Given the description of an element on the screen output the (x, y) to click on. 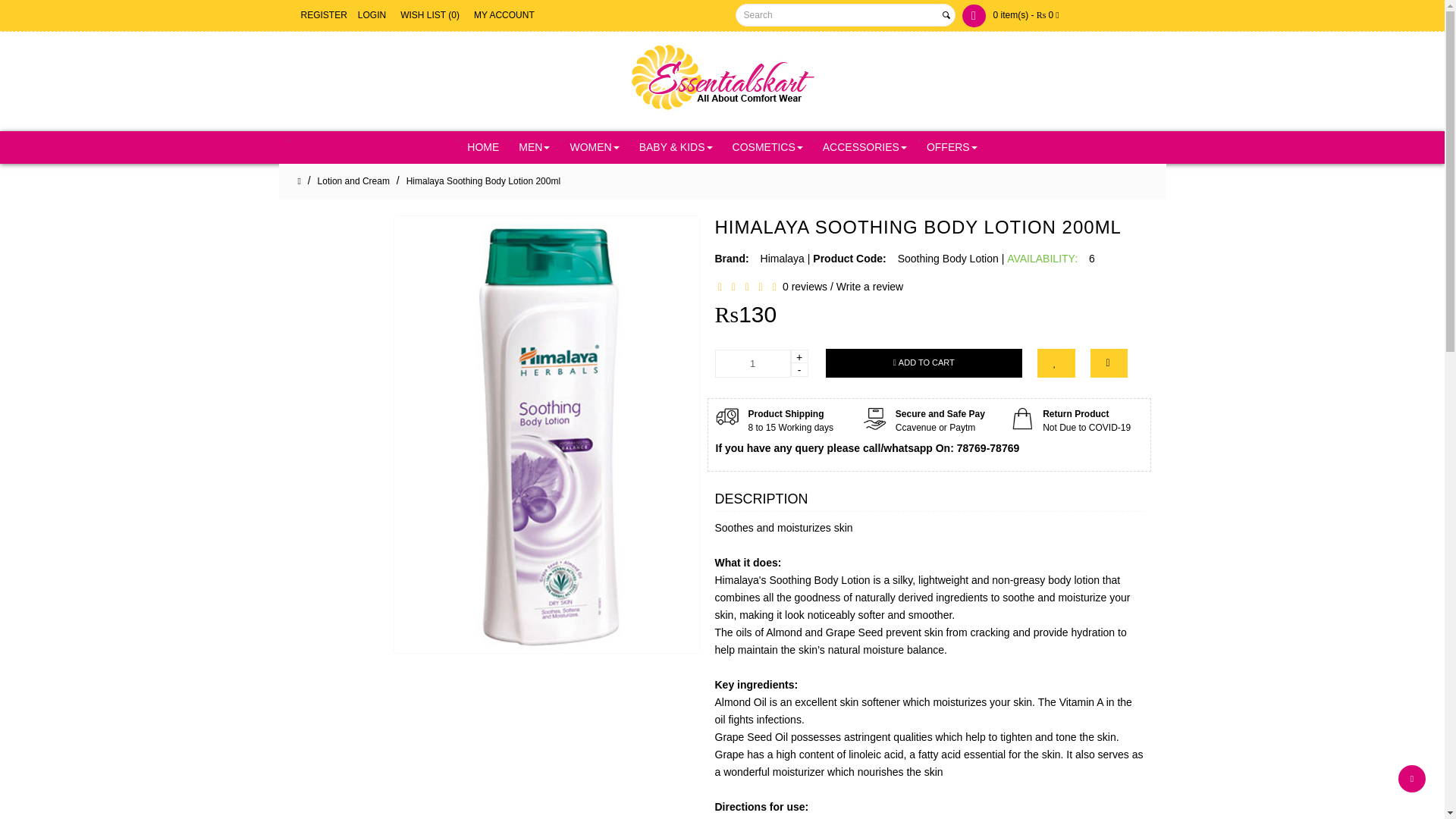
MEN (534, 147)
1 (752, 363)
LOGIN (371, 14)
MY ACCOUNT (504, 14)
WOMEN (593, 147)
EssentialsKart (721, 78)
HOME (483, 147)
REGISTER (322, 14)
